Given the description of an element on the screen output the (x, y) to click on. 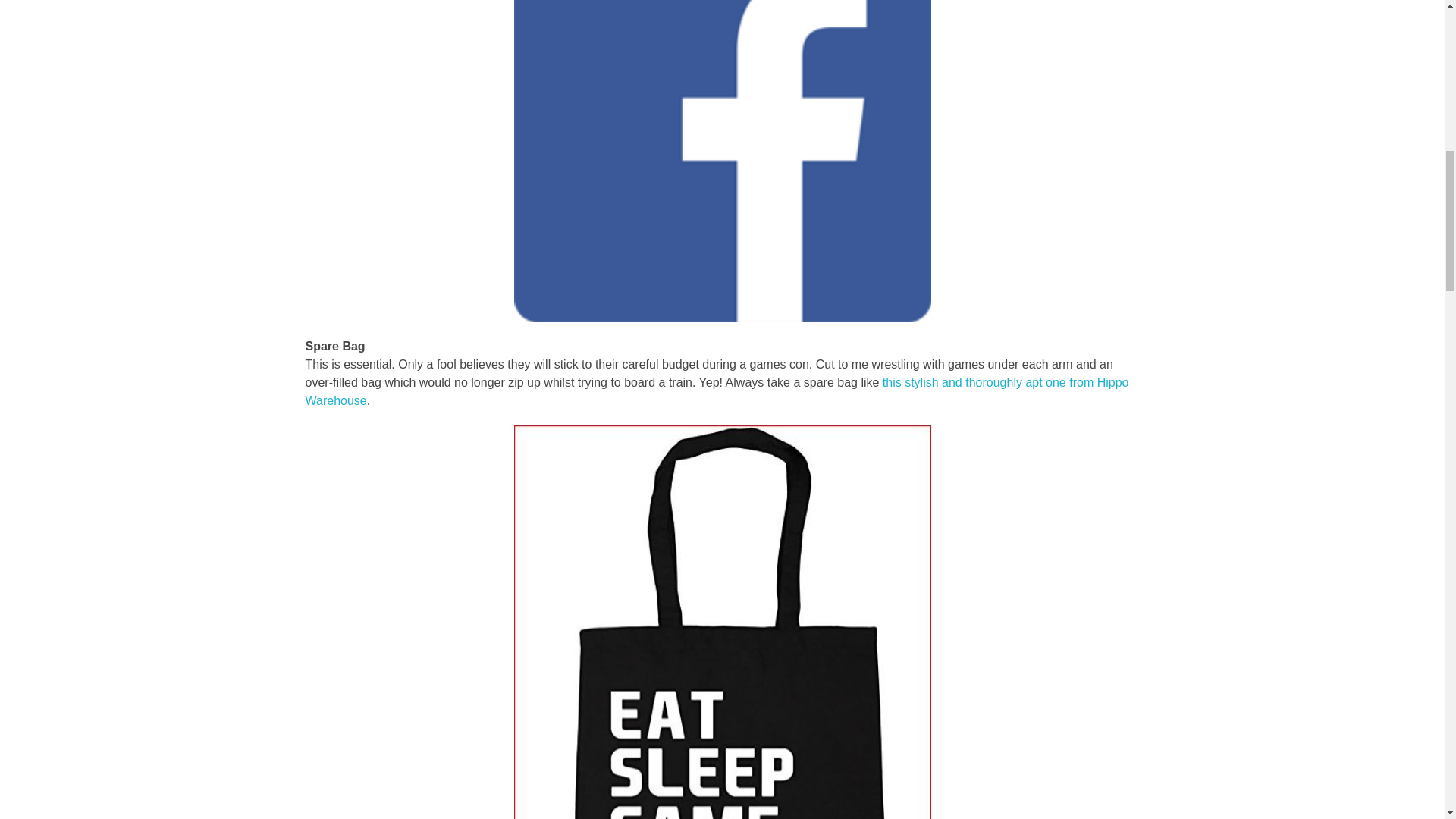
Hippo Warehouse (717, 391)
this stylish and thoroughly apt one  (975, 382)
from  (1082, 382)
